Given the description of an element on the screen output the (x, y) to click on. 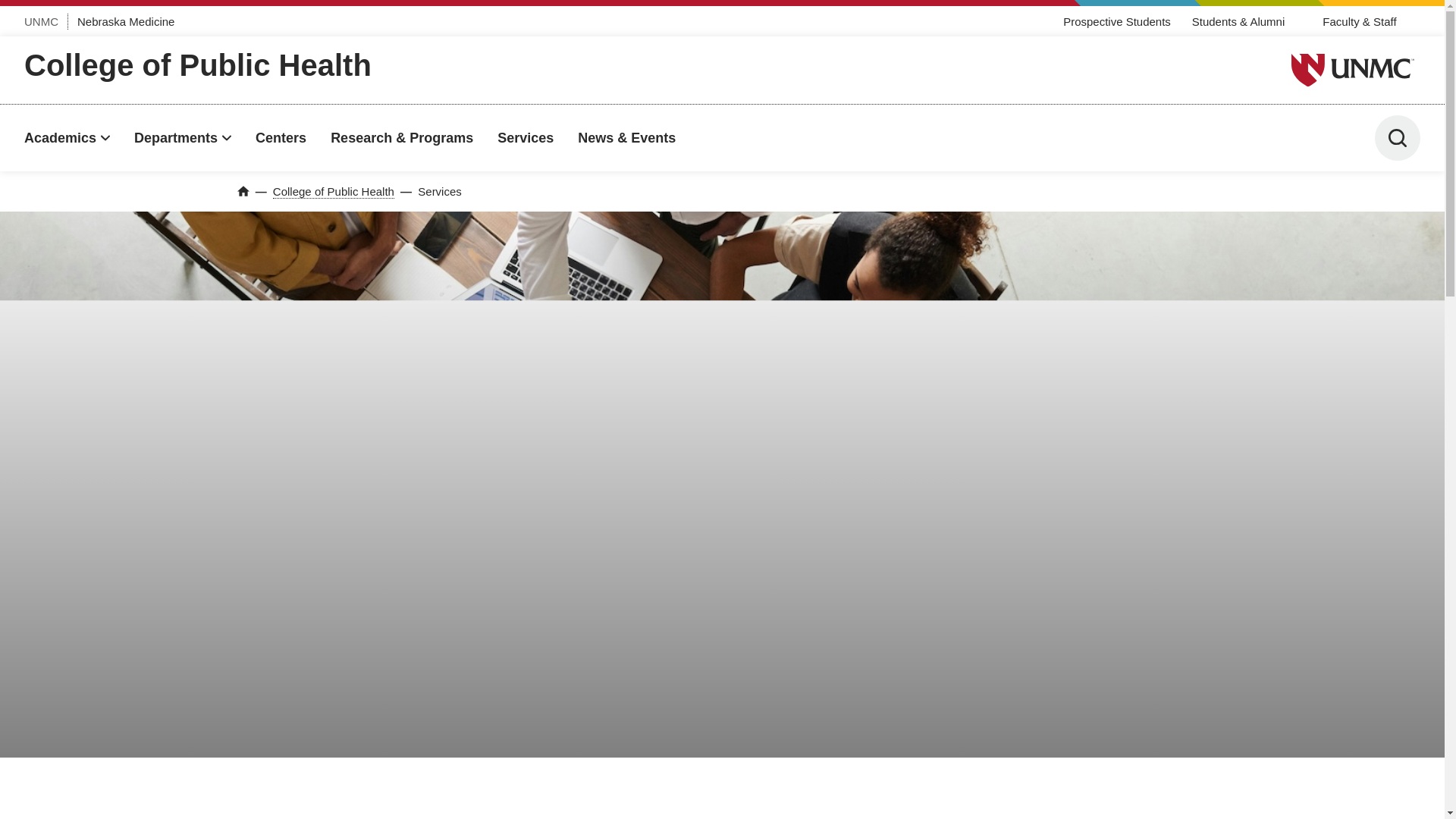
Home (241, 191)
College of Public Health (197, 64)
UNMC (41, 21)
College of Public Health (333, 192)
Departments (182, 137)
Search UNMC (1397, 137)
Nebraska Medicine (125, 21)
Prospective Students (1116, 21)
Academics (67, 137)
University of Nebraska Medical Center (1352, 70)
